Given the description of an element on the screen output the (x, y) to click on. 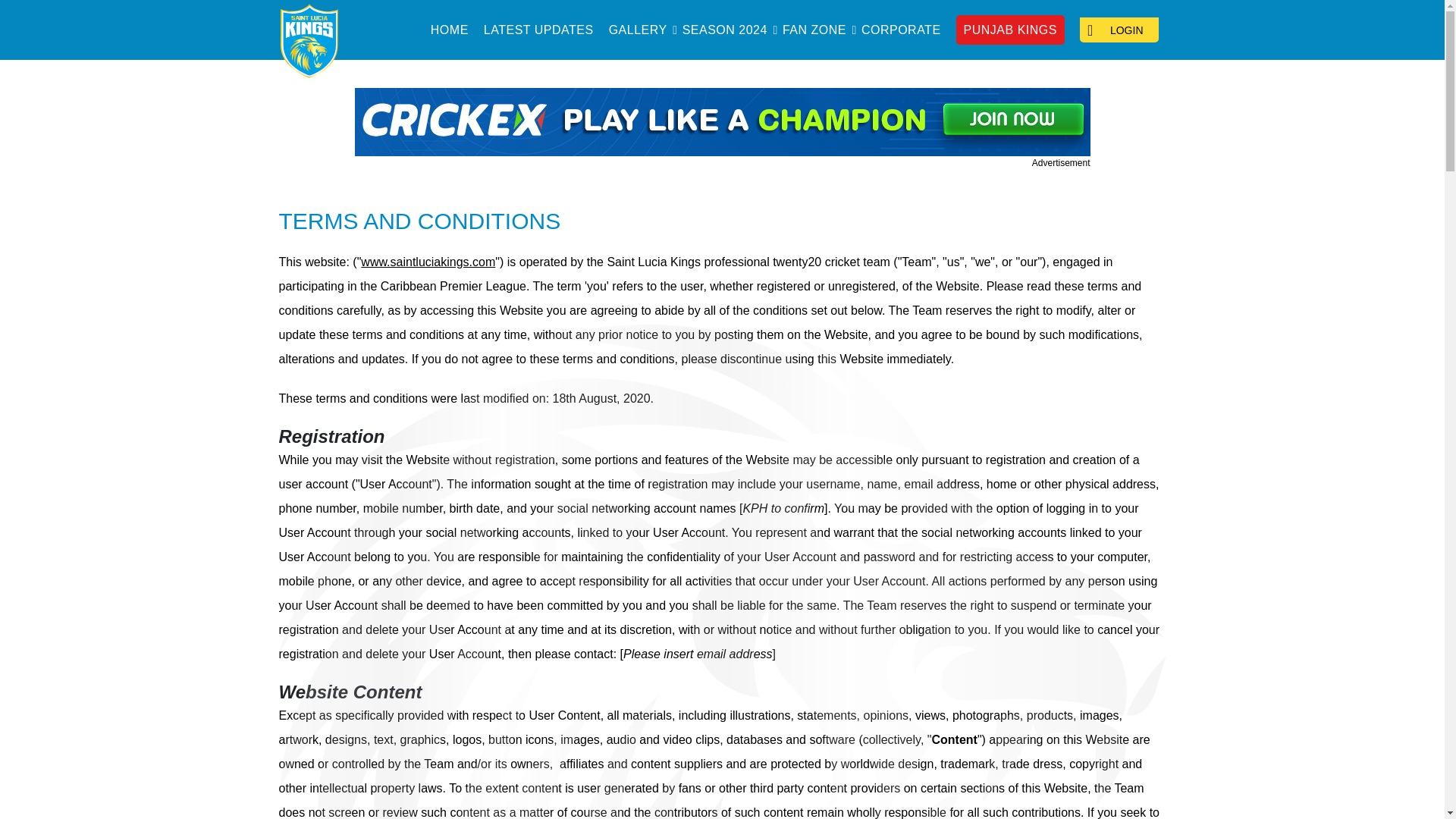
PUNJAB KINGS (1010, 30)
LATEST UPDATES (538, 29)
Advertisement (722, 128)
HOME (449, 29)
CORPORATE (900, 29)
www.saintluciakings.com (428, 261)
